Given the description of an element on the screen output the (x, y) to click on. 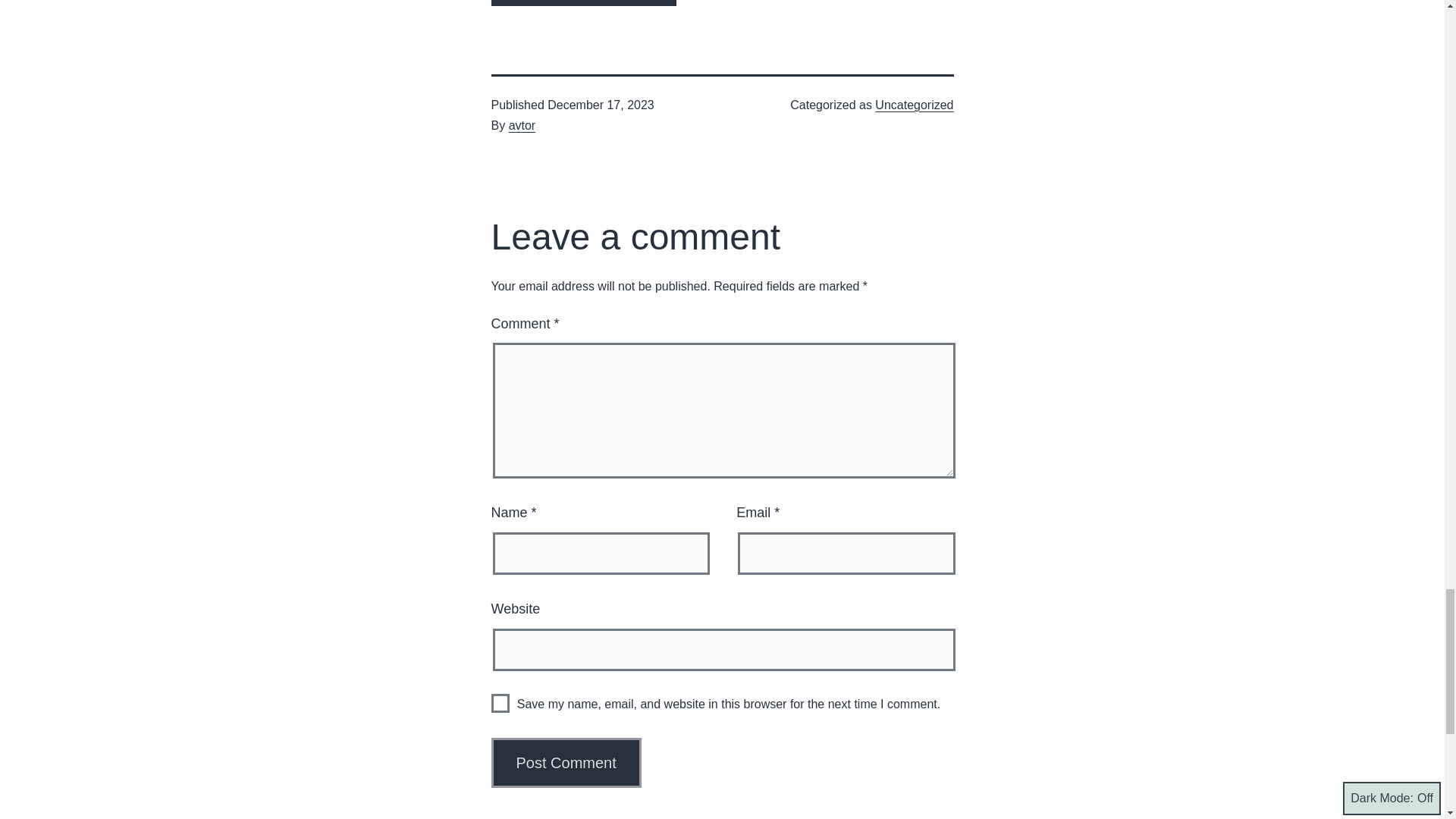
Order Essay Writing (584, 2)
yes (500, 702)
Post Comment (567, 762)
avtor (521, 124)
Post Comment (567, 762)
Uncategorized (914, 104)
